Given the description of an element on the screen output the (x, y) to click on. 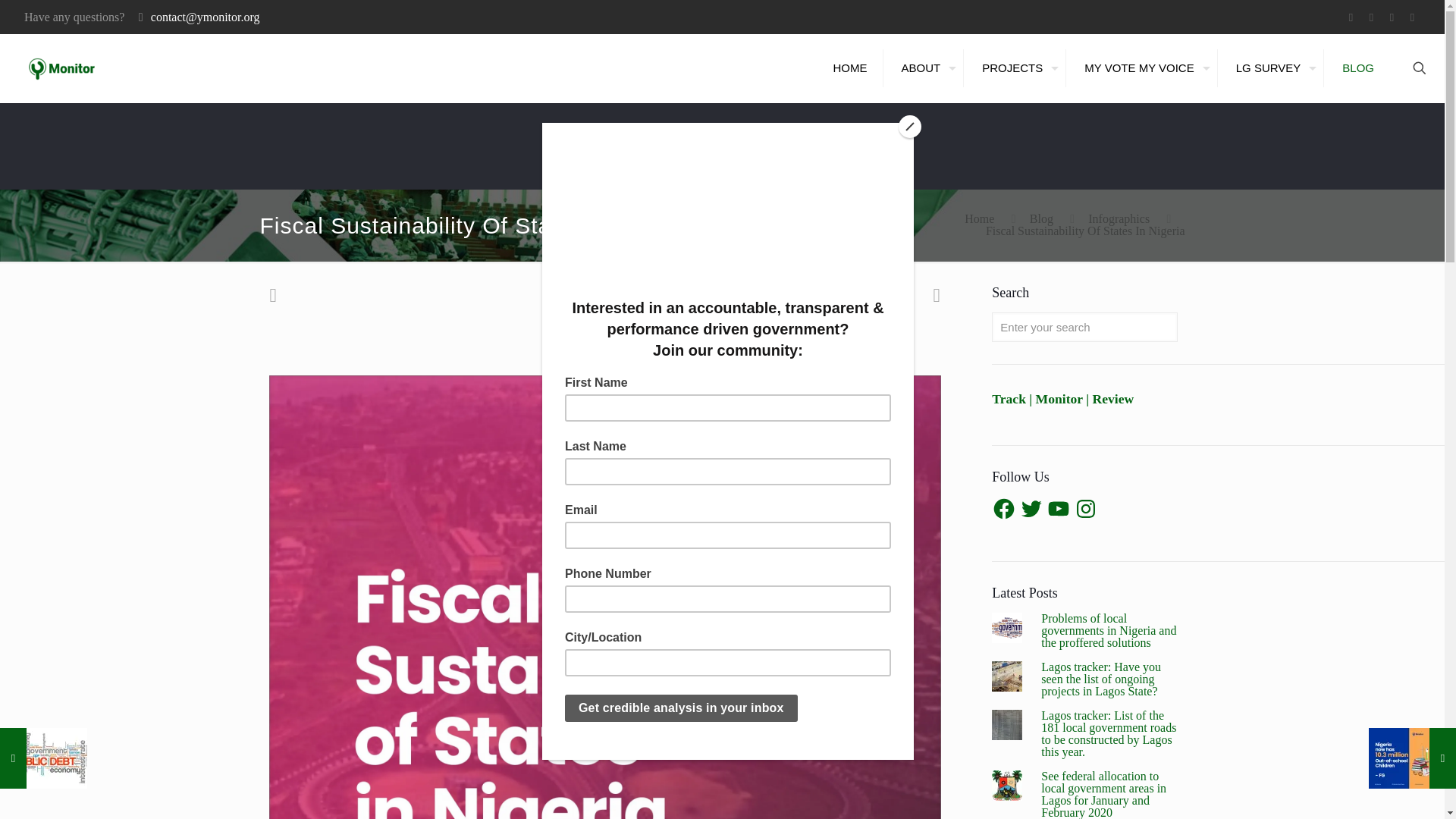
PROJECTS (1015, 67)
MY VOTE MY VOICE (1142, 67)
Facebook (1350, 17)
LG SURVEY (1272, 67)
Twitter (1370, 17)
Instagram (1413, 17)
ABOUT (924, 67)
YouTube (1391, 17)
HOME (850, 67)
